Given the description of an element on the screen output the (x, y) to click on. 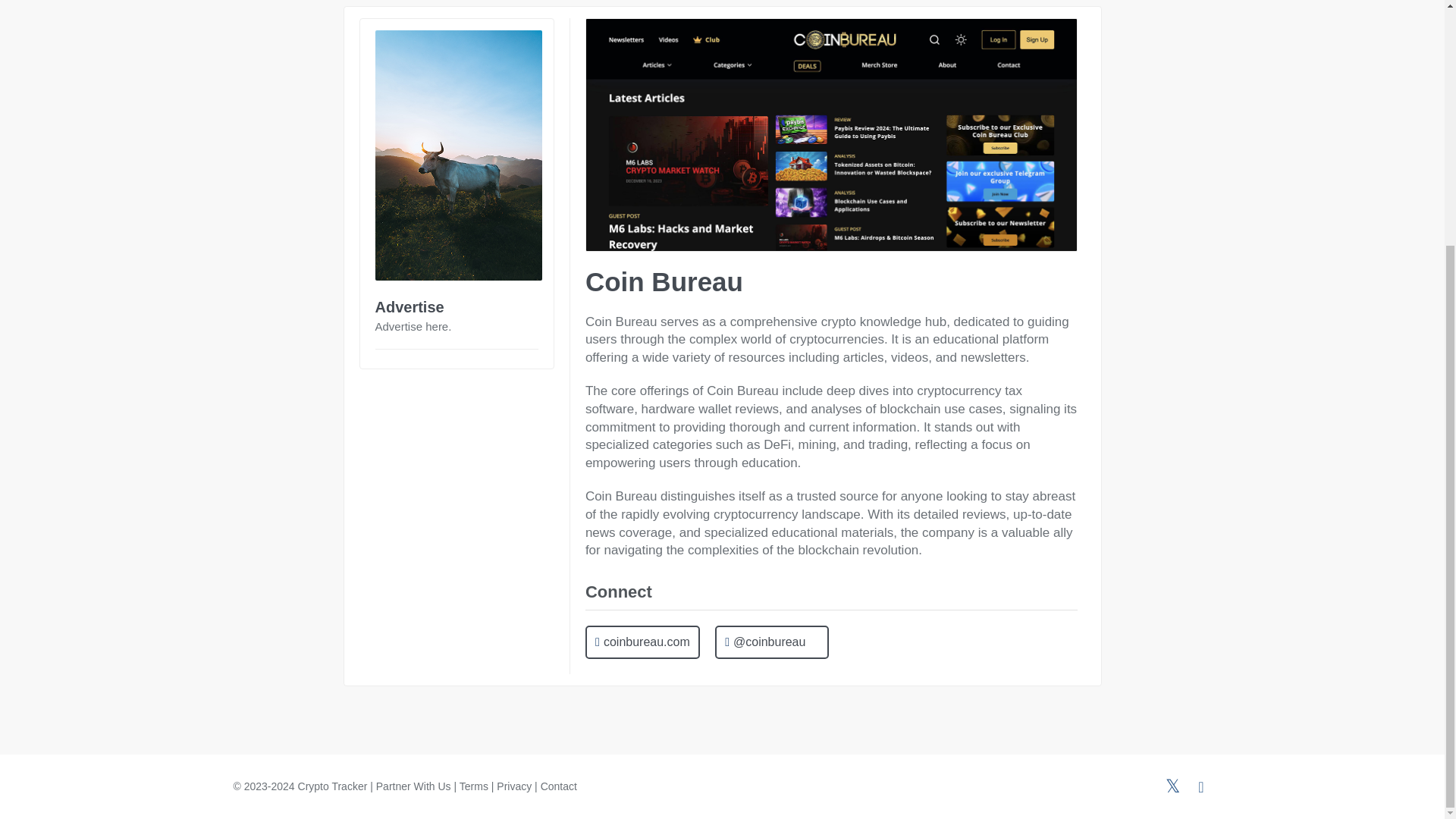
Terms (473, 786)
Advertise (409, 306)
Partner With Us (413, 786)
Privacy (513, 786)
Contact (558, 786)
coinbureau.com (642, 642)
Crypto Tracker (333, 786)
